Given the description of an element on the screen output the (x, y) to click on. 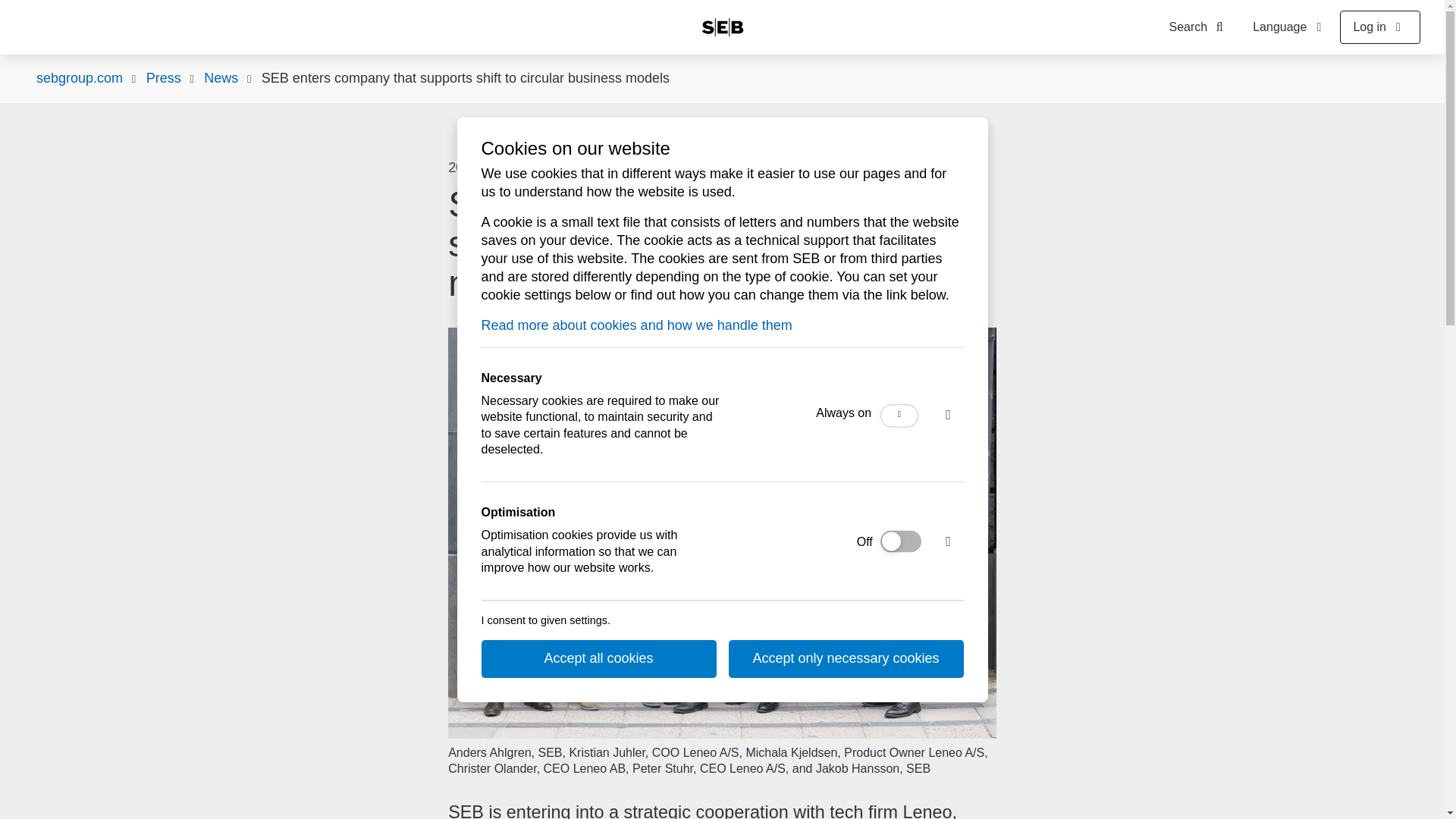
LinkedIn (791, 168)
Facebook (757, 168)
News (220, 78)
sebgroup.com (79, 78)
Log in (1380, 27)
Search (1199, 27)
Language (1289, 27)
Press (163, 78)
Twitter (824, 168)
E-mail (724, 168)
